Given the description of an element on the screen output the (x, y) to click on. 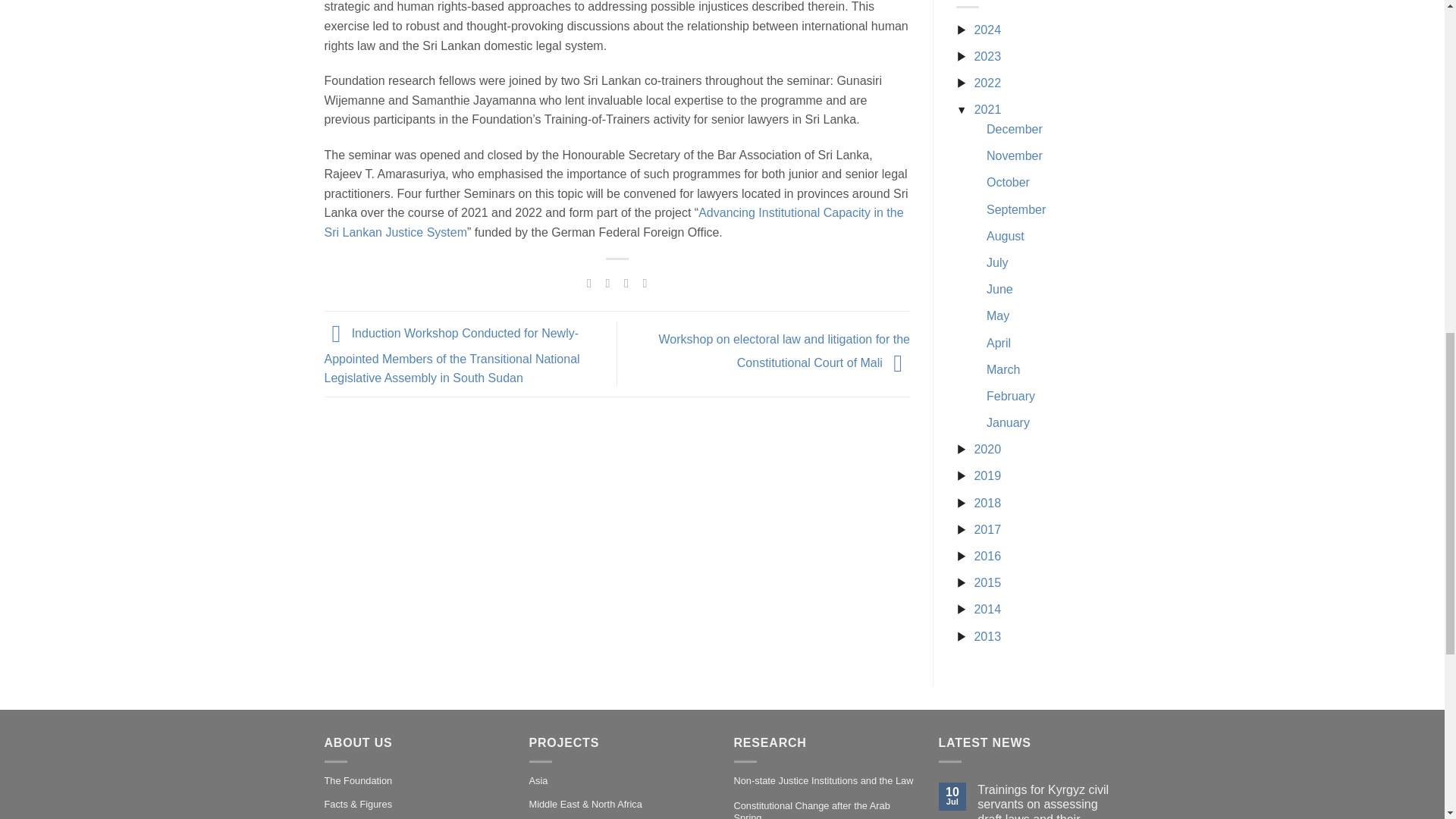
Share on Twitter (606, 282)
Share on LinkedIn (644, 282)
Email to a Friend (625, 282)
Share on Facebook (589, 282)
